Given the description of an element on the screen output the (x, y) to click on. 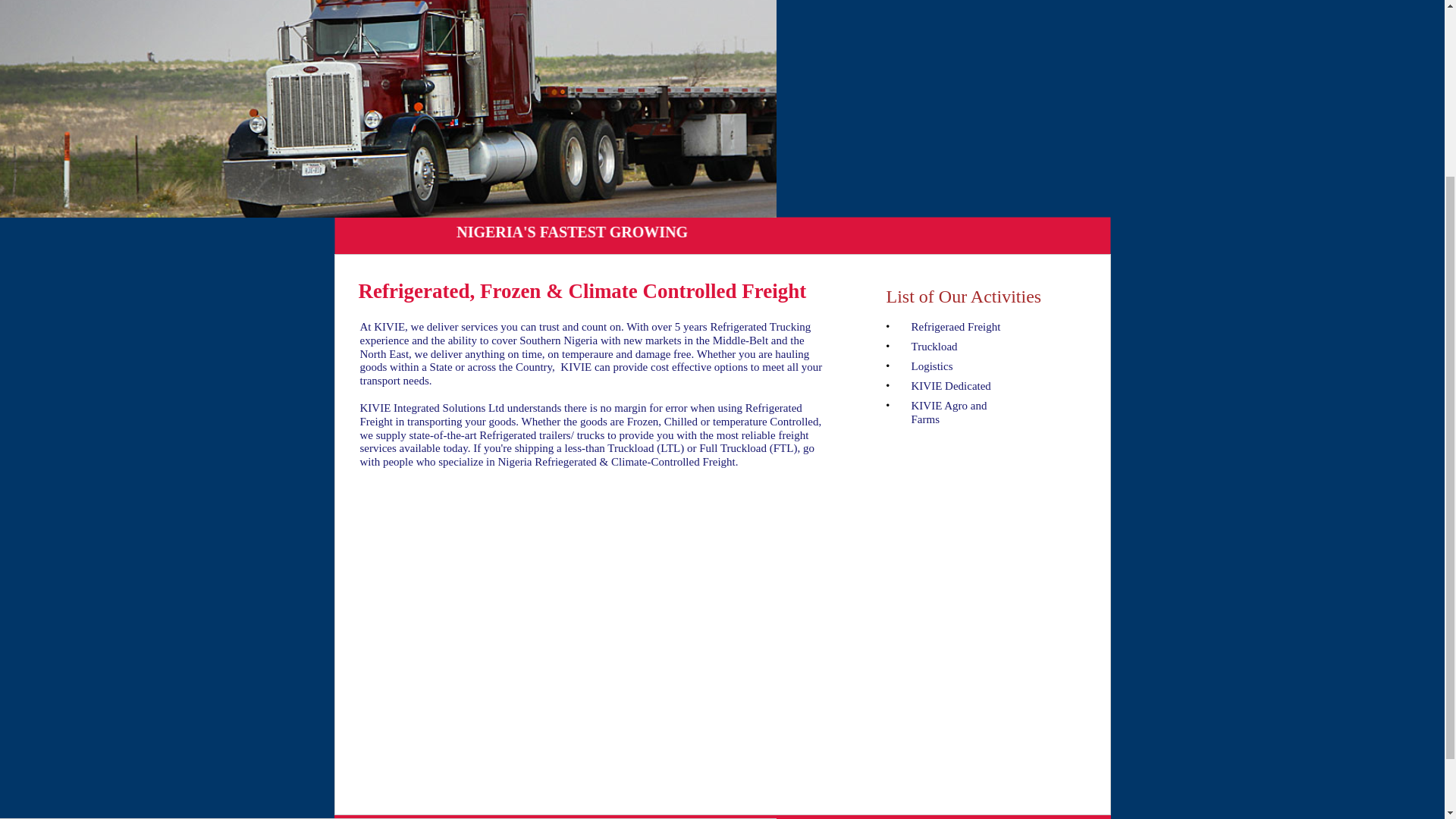
Refrigeraed Freight (956, 326)
KIVIE Agro and Farms (949, 412)
Logistics (932, 366)
Truckload (934, 346)
KIVIE Dedicated (951, 386)
